Given the description of an element on the screen output the (x, y) to click on. 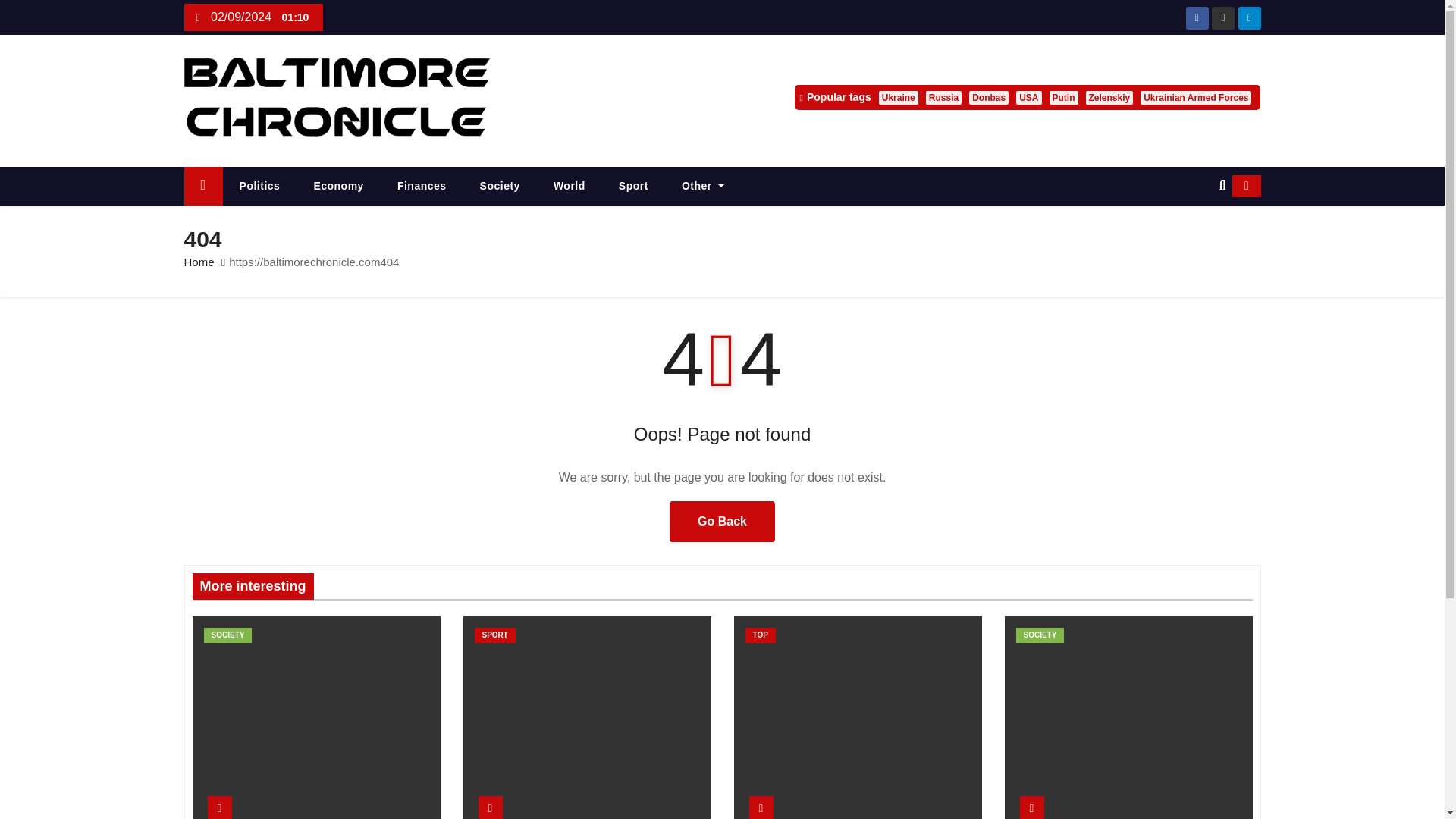
Donbas (989, 97)
Finances (421, 186)
SOCIETY (227, 635)
Go Back (721, 521)
Ukraine (898, 97)
World (569, 186)
Ukrainian Armed Forces (1195, 97)
Sport (633, 186)
SPORT (494, 635)
Sport (633, 186)
